Given the description of an element on the screen output the (x, y) to click on. 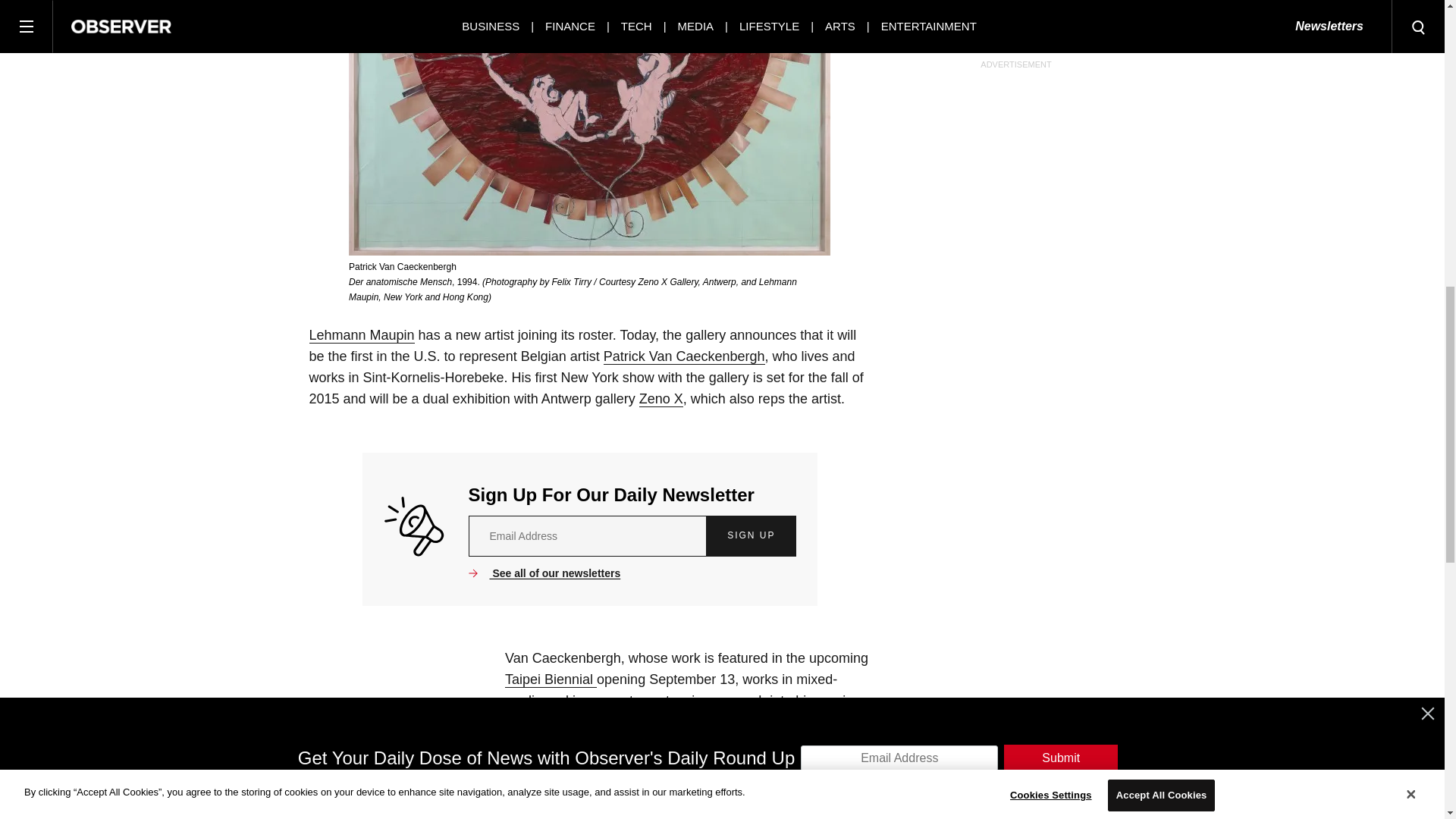
Patrick Van Caeckenbergh (684, 356)
